Given the description of an element on the screen output the (x, y) to click on. 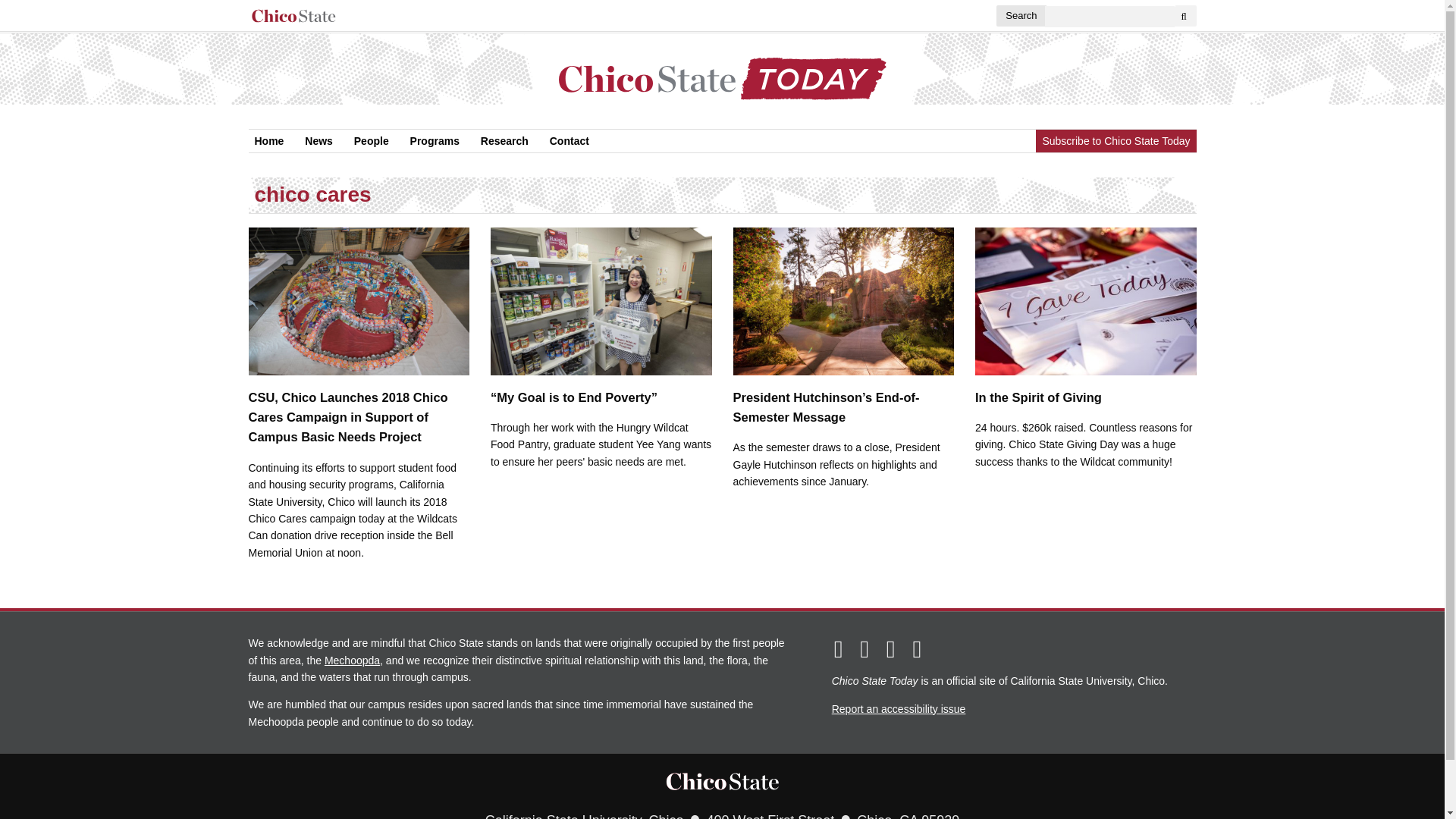
Mechoopda (352, 659)
Submit Search (1185, 15)
Subscribe to Chico State Today (1115, 140)
In the Spirit of Giving (1085, 315)
Chico State (722, 780)
People (370, 140)
Contact (569, 140)
Home (268, 140)
Programs (434, 140)
Research (504, 140)
News (318, 140)
Report an accessibility issue (898, 707)
